Given the description of an element on the screen output the (x, y) to click on. 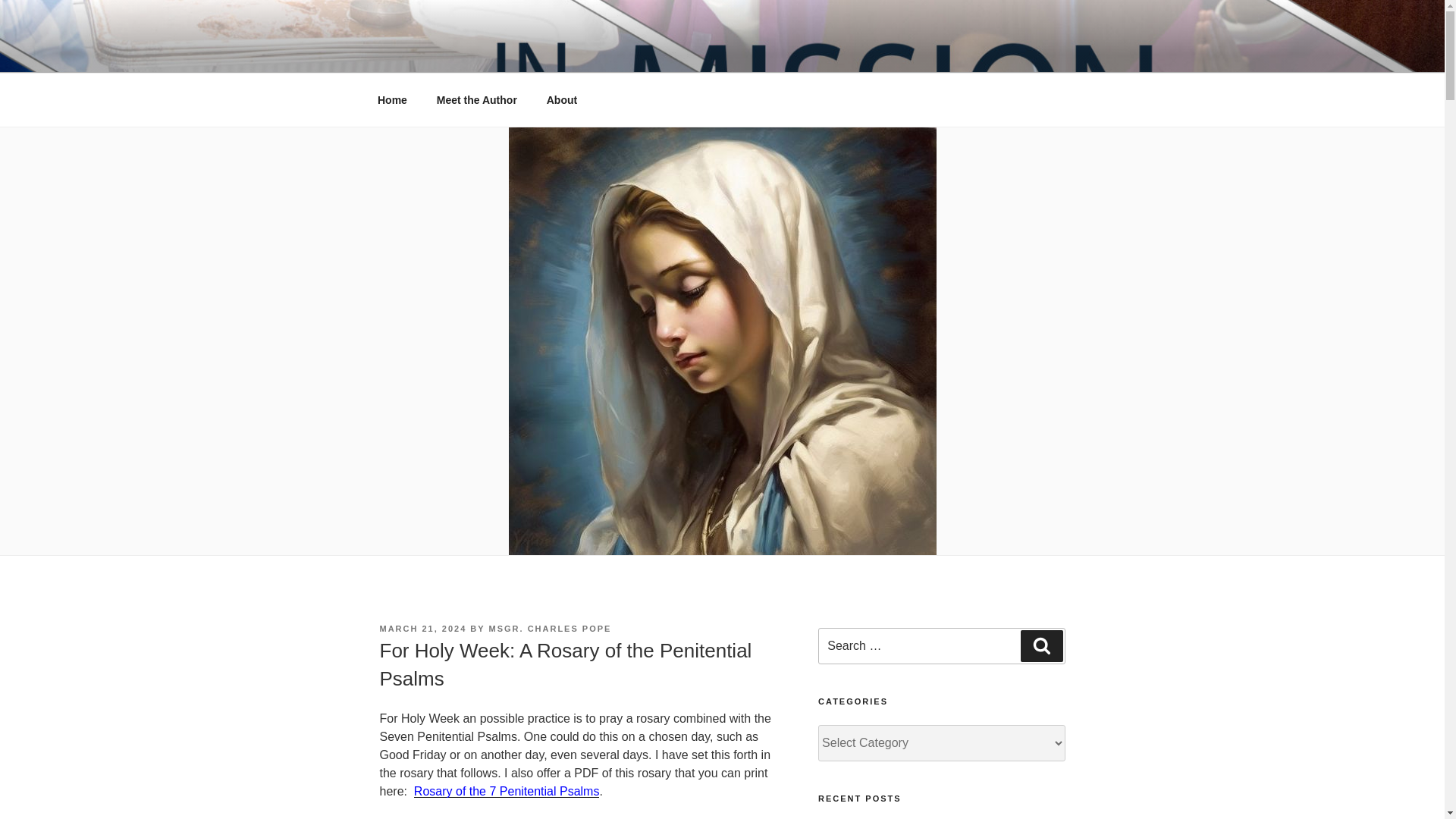
MARCH 21, 2024 (421, 628)
About (560, 99)
Meet the Author (476, 99)
Home (392, 99)
COMMUNITY IN MISSION (563, 52)
Rosary of the 7 Penitential Psalms (506, 790)
MSGR. CHARLES POPE (550, 628)
Search (1041, 645)
